Given the description of an element on the screen output the (x, y) to click on. 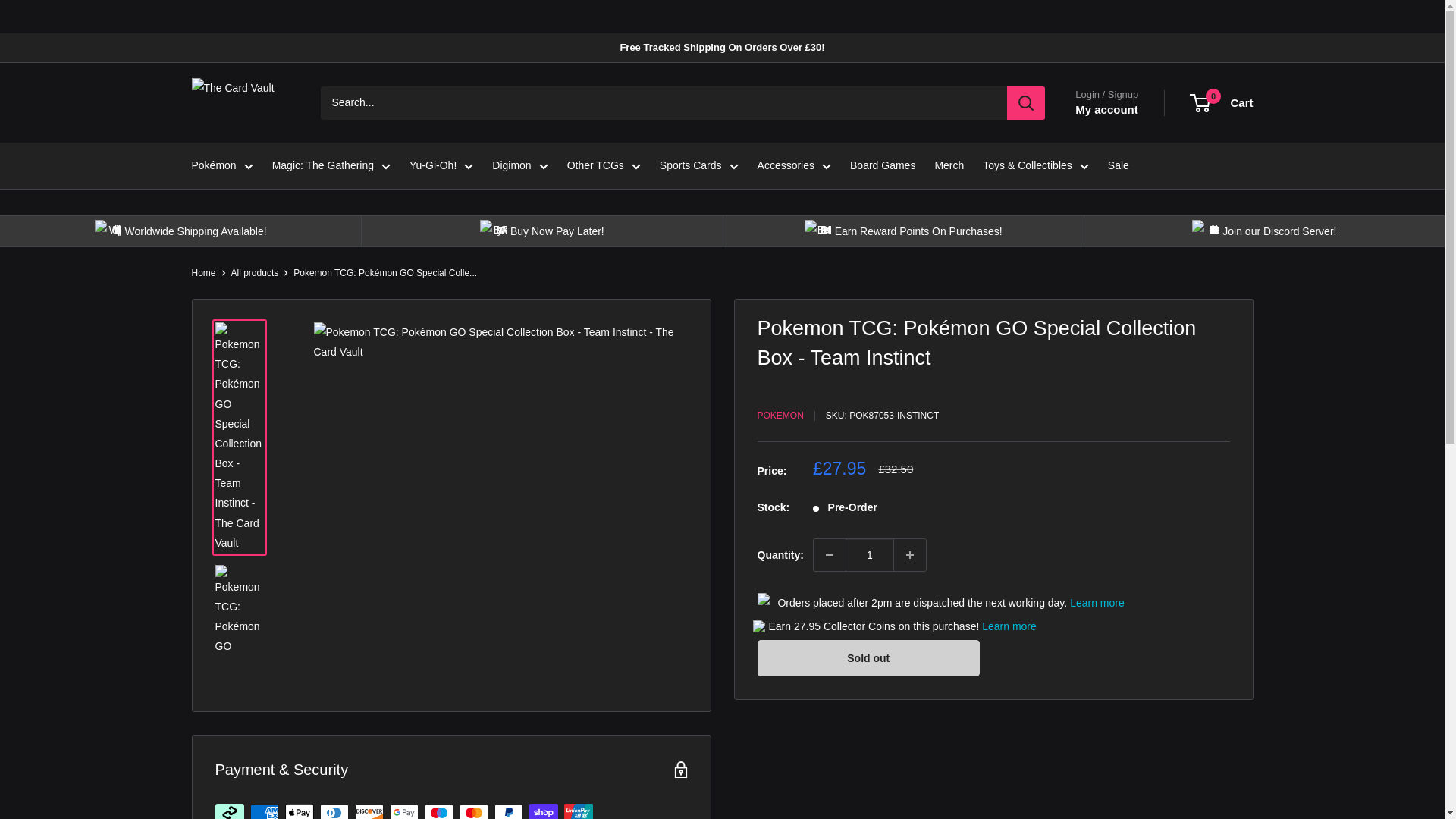
Increase quantity by 1 (909, 554)
Decrease quantity by 1 (829, 554)
1 (869, 554)
